Given the description of an element on the screen output the (x, y) to click on. 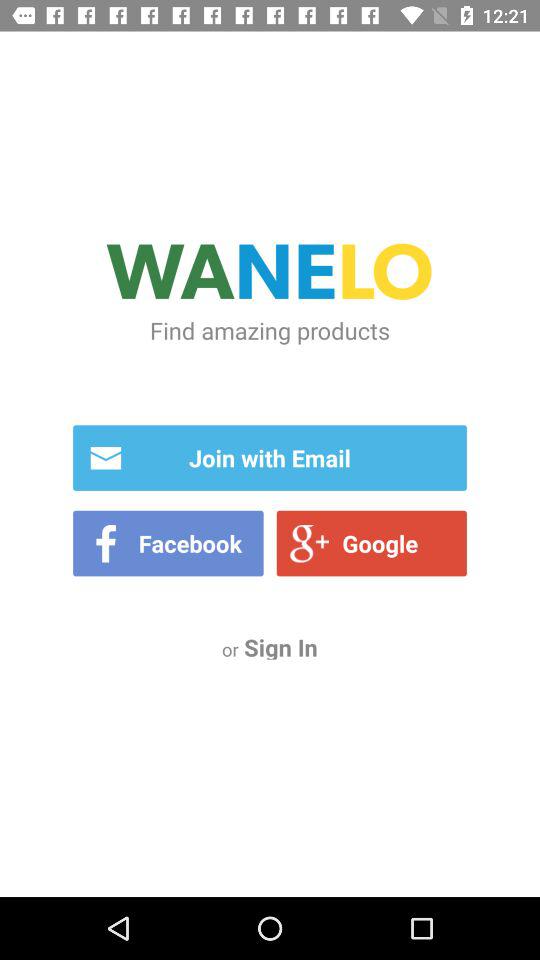
flip until wanelo item (269, 274)
